Given the description of an element on the screen output the (x, y) to click on. 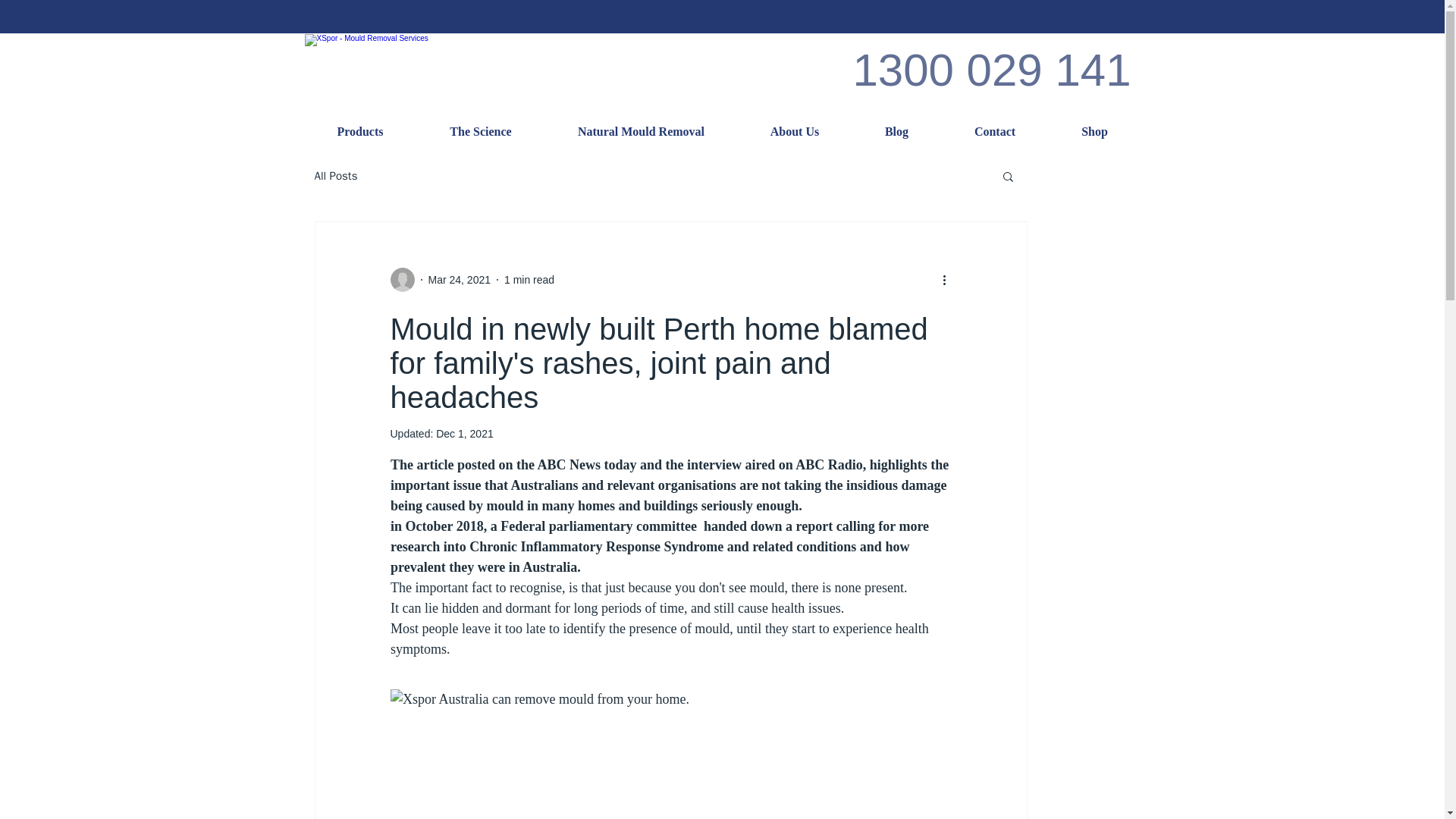
Dec 1, 2021 (464, 433)
Products (359, 131)
The Science (480, 131)
Shop (1094, 131)
About Us (793, 131)
All Posts (335, 175)
Mar 24, 2021 (459, 278)
Contact (995, 131)
1 min read (528, 278)
Blog (896, 131)
Natural Mould Removal (640, 131)
